Given the description of an element on the screen output the (x, y) to click on. 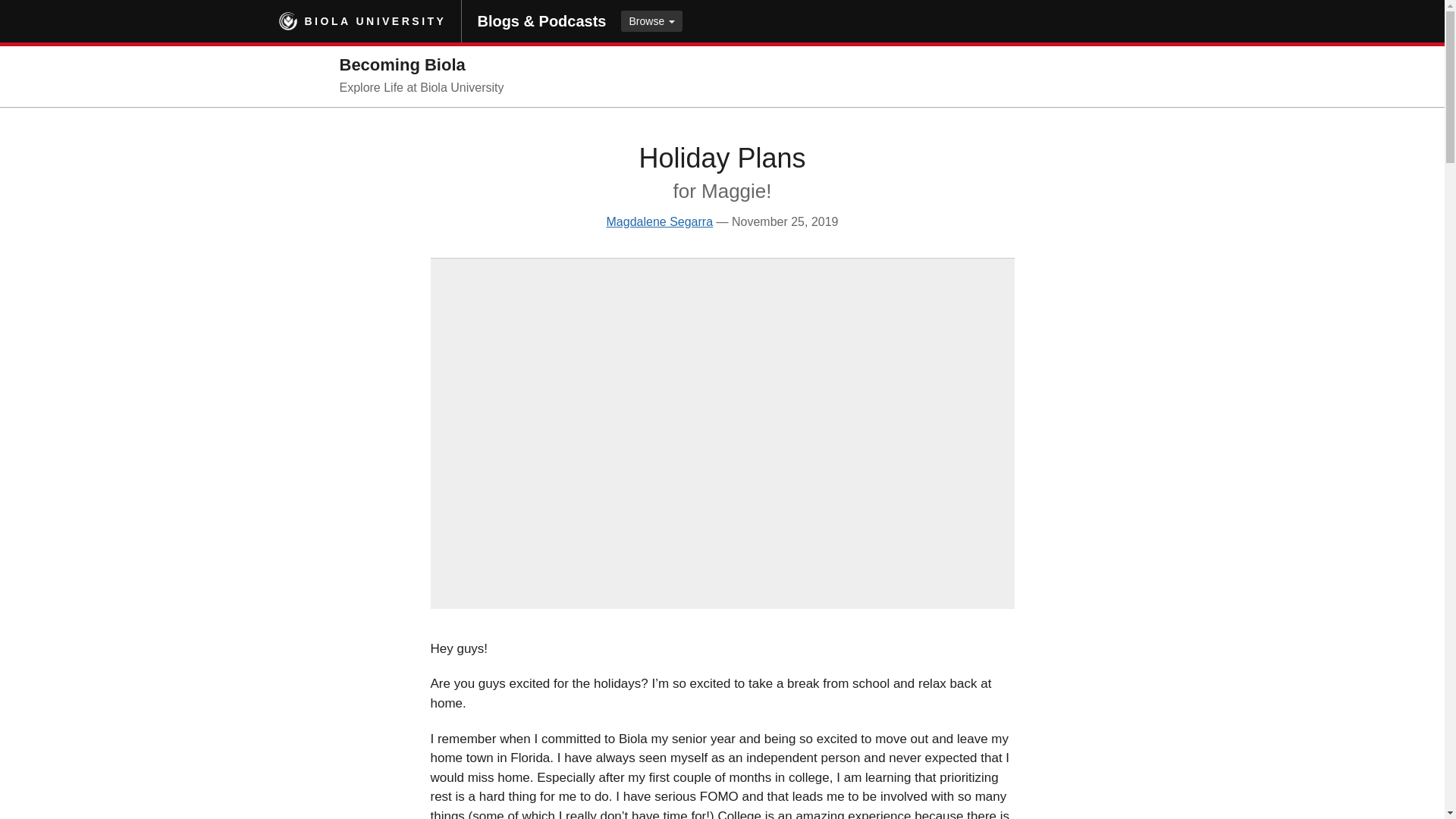
Becoming Biola (402, 64)
Magdalene Segarra (660, 221)
BIOLA UNIVERSITY (375, 21)
Browse (651, 20)
